Given the description of an element on the screen output the (x, y) to click on. 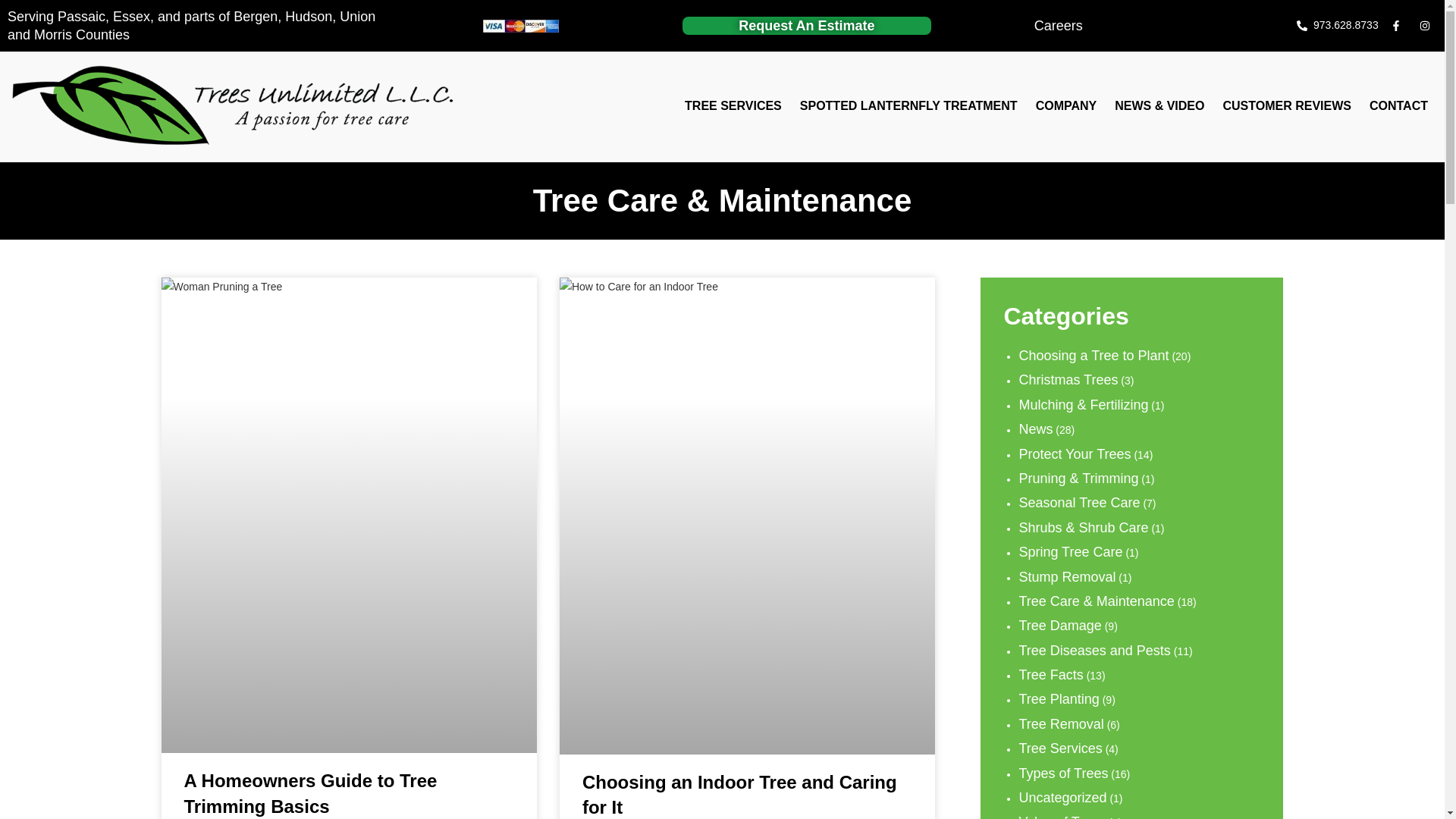
SPOTTED LANTERNFLY TREATMENT (908, 106)
COMPANY (1066, 106)
A Homeowners Guide to Tree Trimming Basics (309, 793)
973.628.8733 (1337, 25)
Careers (1058, 25)
CONTACT (1398, 106)
TREE SERVICES (732, 106)
Request An Estimate (806, 25)
CUSTOMER REVIEWS (1285, 106)
